Given the description of an element on the screen output the (x, y) to click on. 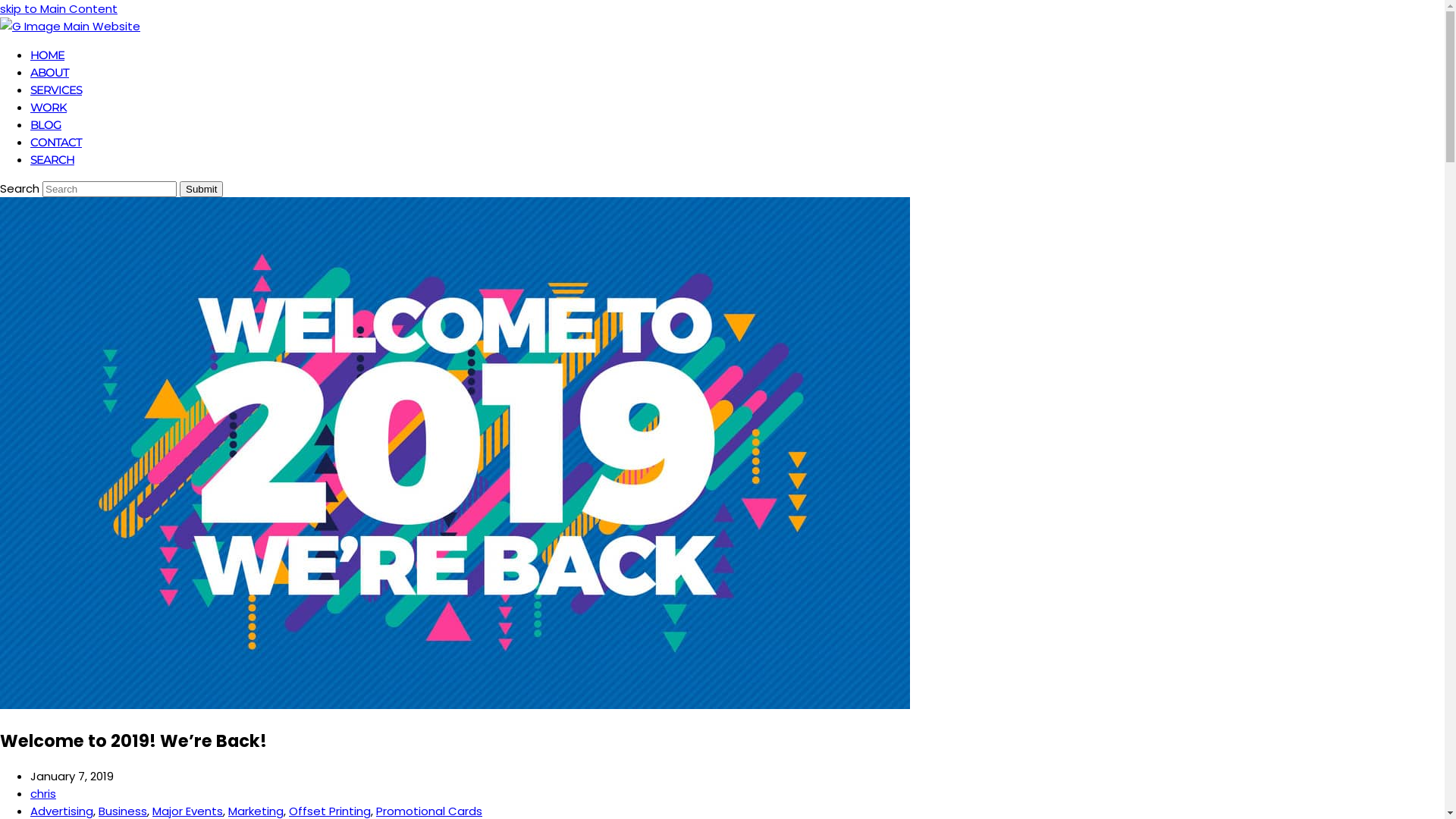
CONTACT Element type: text (55, 142)
BLOG Element type: text (45, 124)
Submit Element type: text (200, 189)
WORK Element type: text (48, 107)
HOME Element type: text (47, 54)
SEARCH Element type: text (52, 159)
skip to Main Content Element type: text (58, 8)
chris Element type: text (43, 793)
SERVICES Element type: text (55, 89)
ABOUT Element type: text (49, 72)
